Given the description of an element on the screen output the (x, y) to click on. 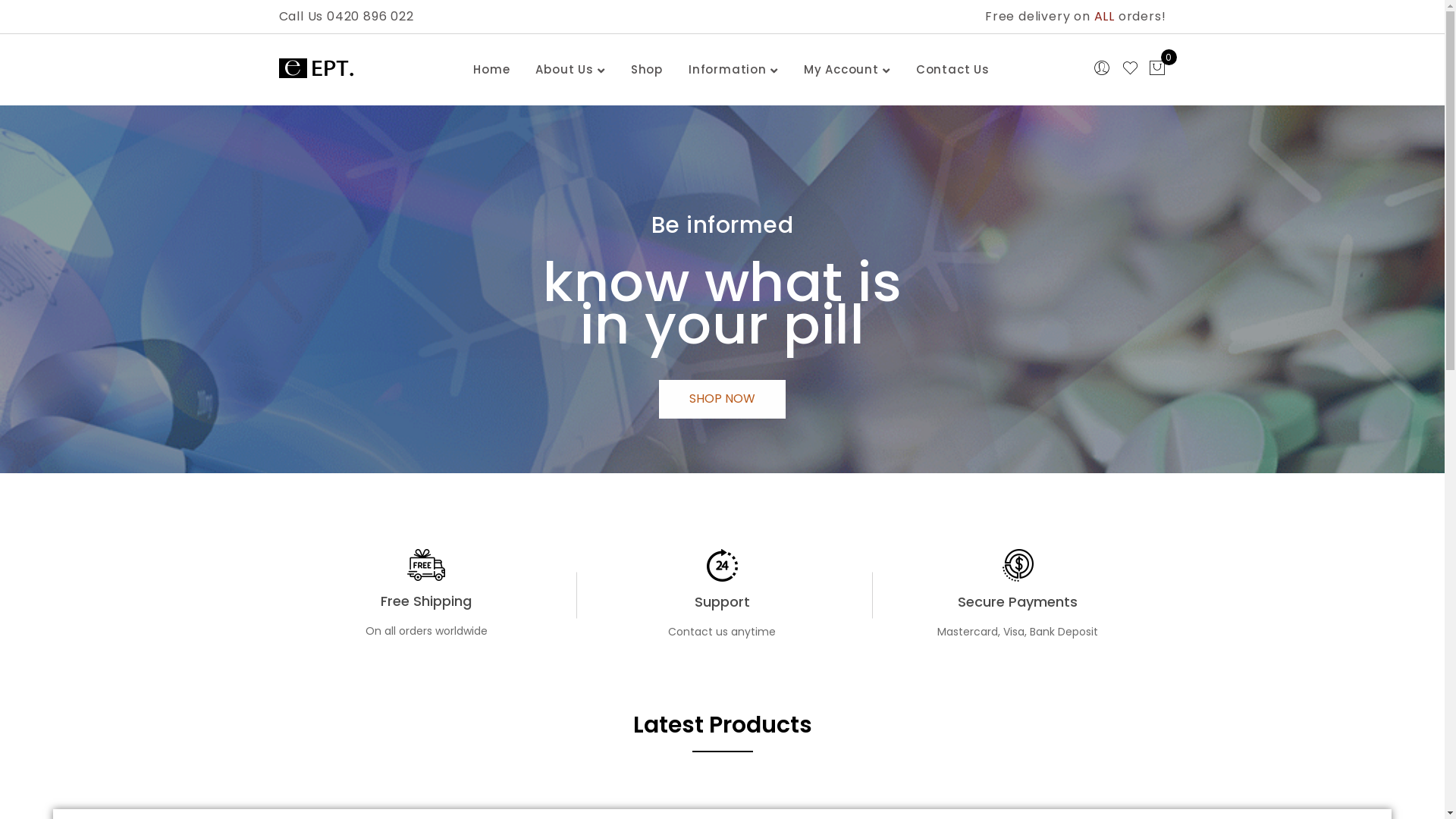
Information Element type: text (727, 69)
Shop Element type: text (646, 69)
My Account Element type: text (840, 69)
0 Element type: text (1157, 69)
SHOP NOW Element type: text (721, 398)
Contact Us Element type: text (952, 69)
About Us Element type: text (564, 69)
Home Element type: text (491, 69)
